Given the description of an element on the screen output the (x, y) to click on. 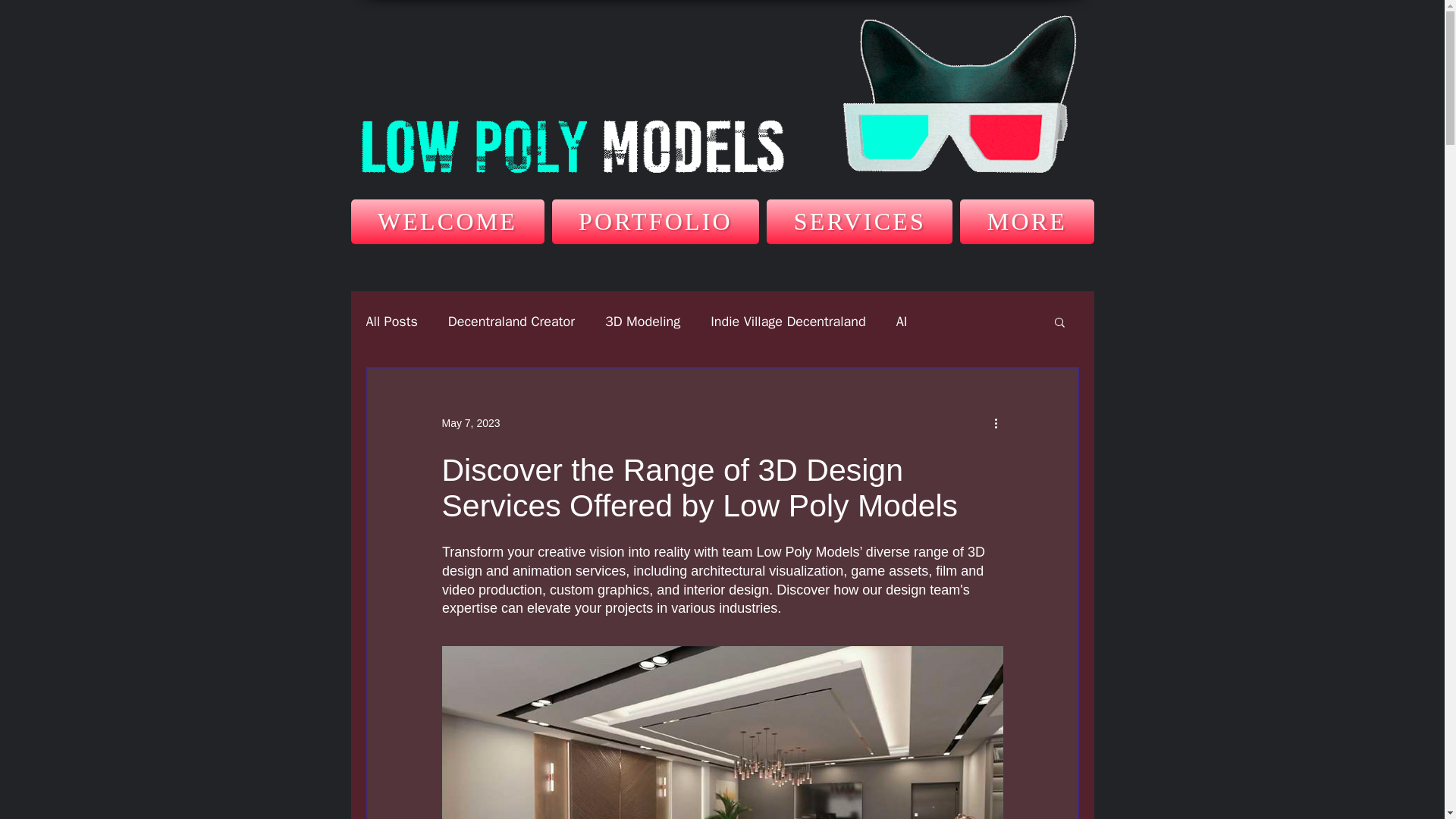
Decentraland Creator (511, 321)
AI (901, 321)
3D Modeling (642, 321)
May 7, 2023 (721, 221)
Indie Village Decentraland (470, 422)
All Posts (788, 321)
